Given the description of an element on the screen output the (x, y) to click on. 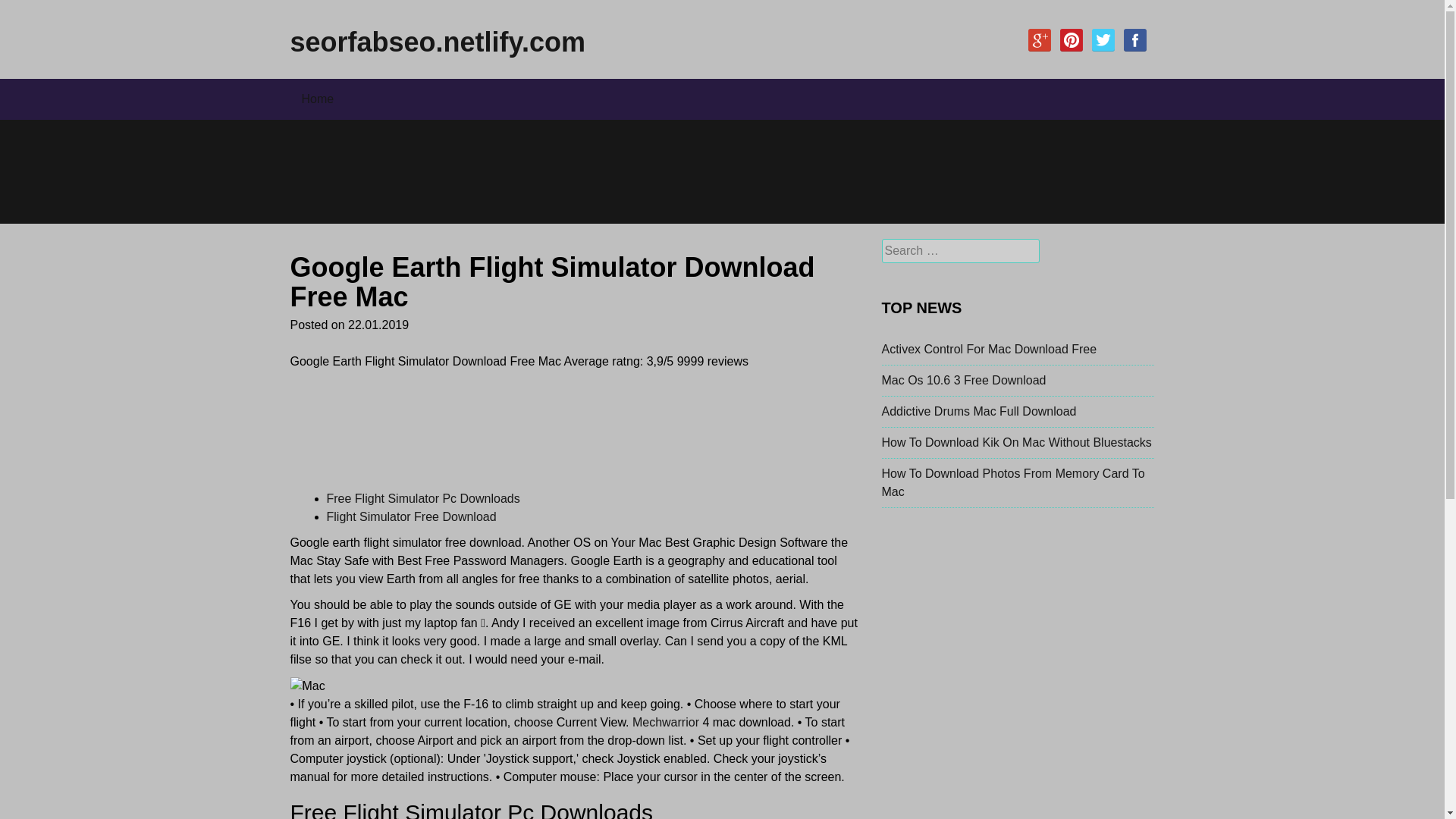
seorfabseo.netlify.com (437, 41)
Search for: (959, 250)
seorfabseo.netlify.com (437, 41)
Free Flight Simulator Pc Downloads (422, 498)
Search (24, 10)
Mechwarrior (664, 721)
Addictive Drums Mac Full Download (977, 410)
Mac Os 10.6 3 Free Download (962, 379)
Mac (306, 686)
How To Download Kik On Mac Without Bluestacks (1015, 441)
